Given the description of an element on the screen output the (x, y) to click on. 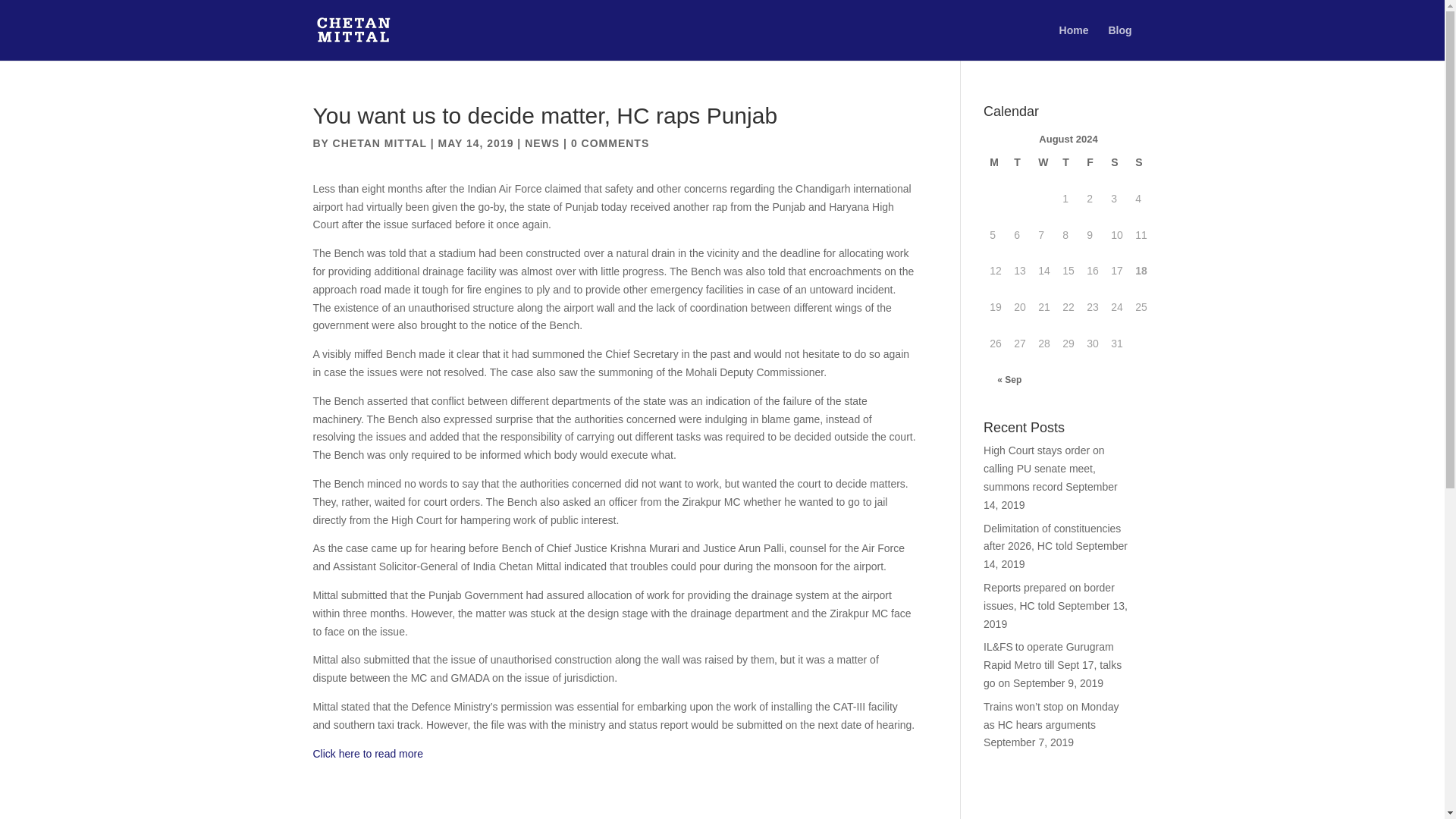
Posts by Chetan Mittal (379, 143)
NEWS (541, 143)
CHETAN MITTAL (379, 143)
Reports prepared on border issues, HC told (1049, 596)
0 COMMENTS (609, 143)
Click here to read more (368, 753)
Delimitation of constituencies after 2026, HC told (1052, 537)
